Given the description of an element on the screen output the (x, y) to click on. 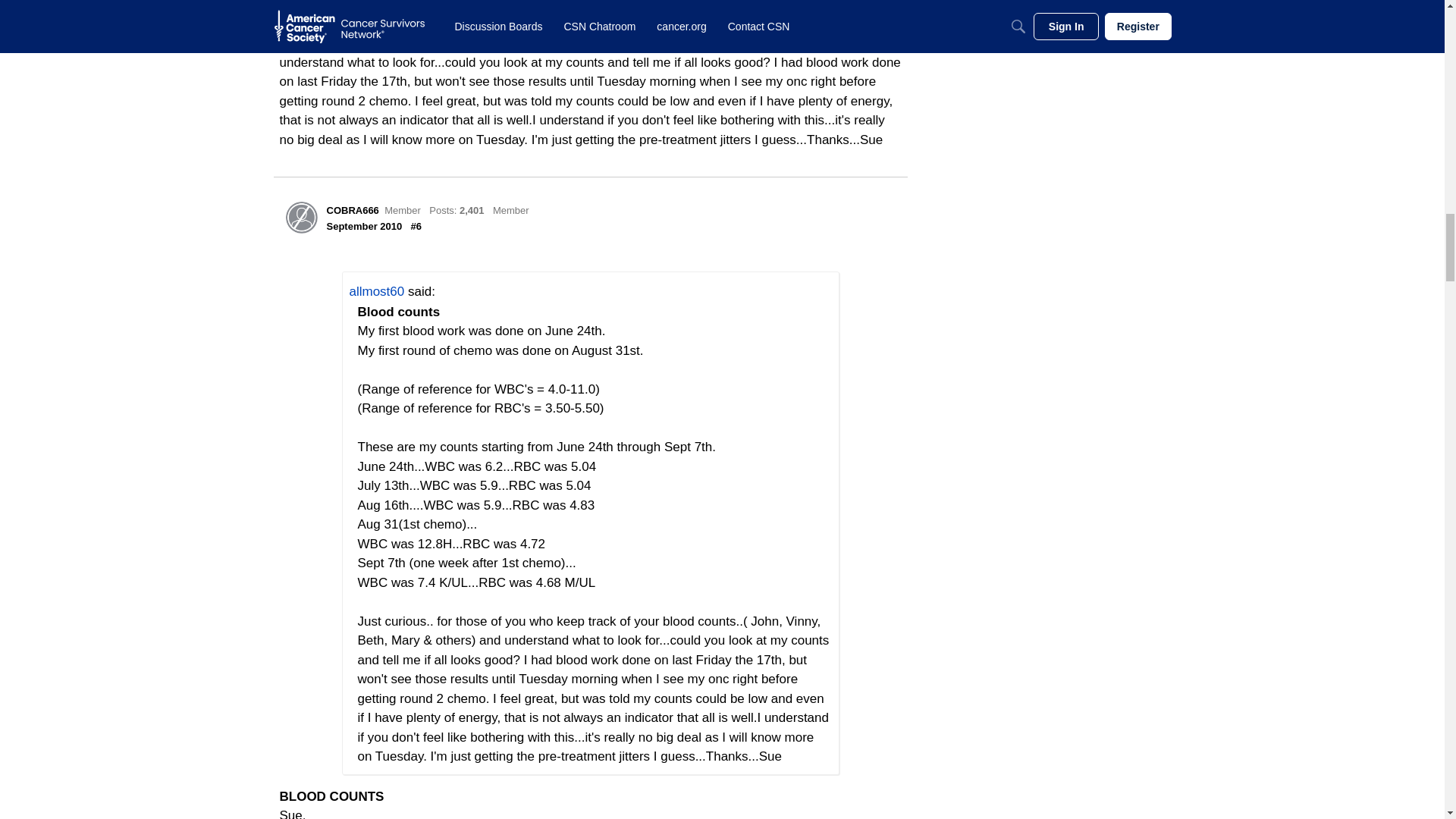
September 19, 2010 10:05PM (363, 225)
COBRA666 (352, 210)
September 2010 (363, 225)
Level 2 (511, 210)
